Given the description of an element on the screen output the (x, y) to click on. 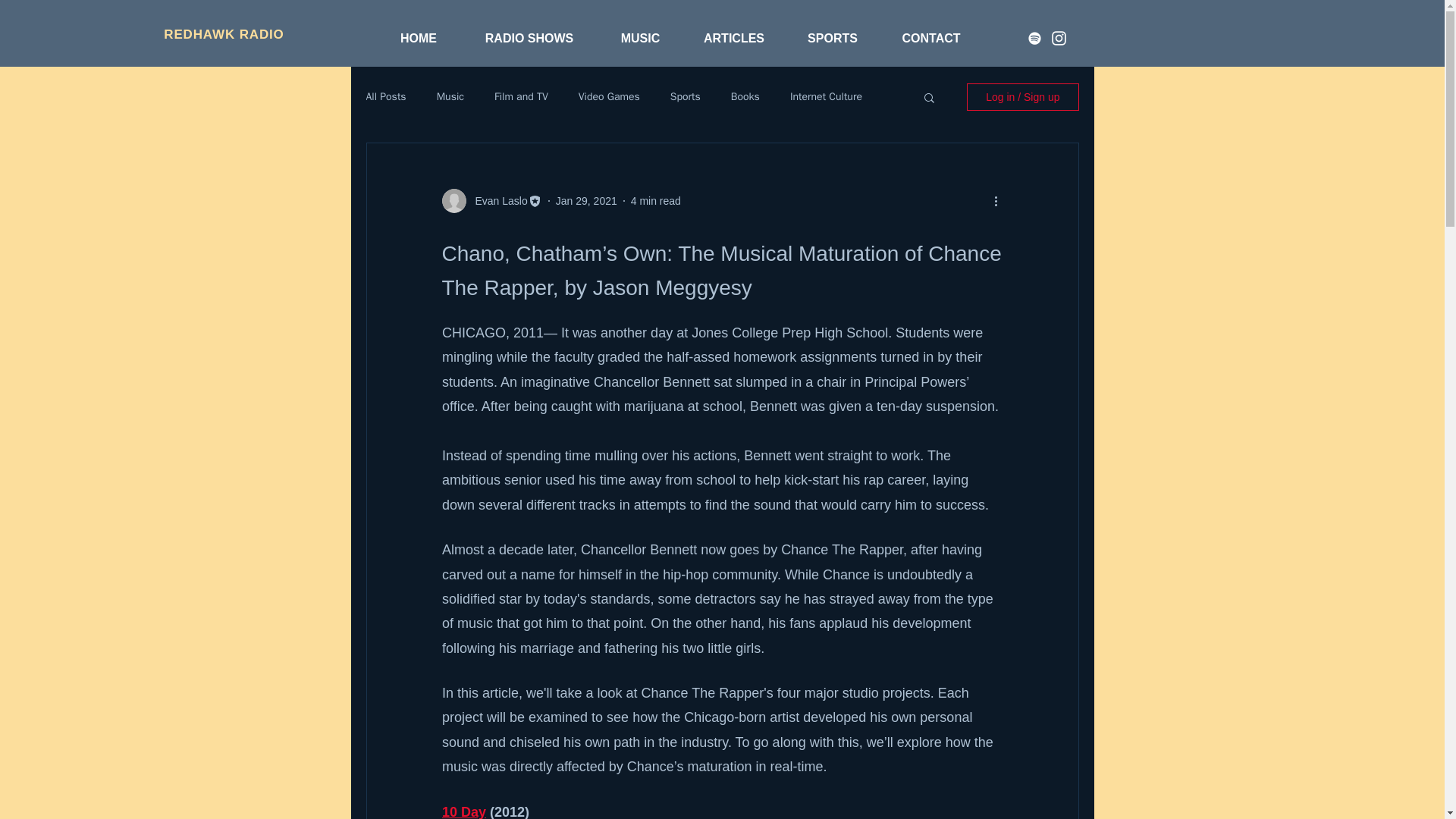
Jan 29, 2021 (586, 200)
RADIO SHOWS (529, 38)
10 Day (462, 811)
Music (450, 97)
Books (745, 97)
Video Games (609, 97)
Sports (684, 97)
Evan Laslo (496, 200)
MUSIC (640, 38)
4 min read (655, 200)
CONTACT (931, 38)
Internet Culture (825, 97)
HOME (418, 38)
All Posts (385, 97)
SPORTS (832, 38)
